Given the description of an element on the screen output the (x, y) to click on. 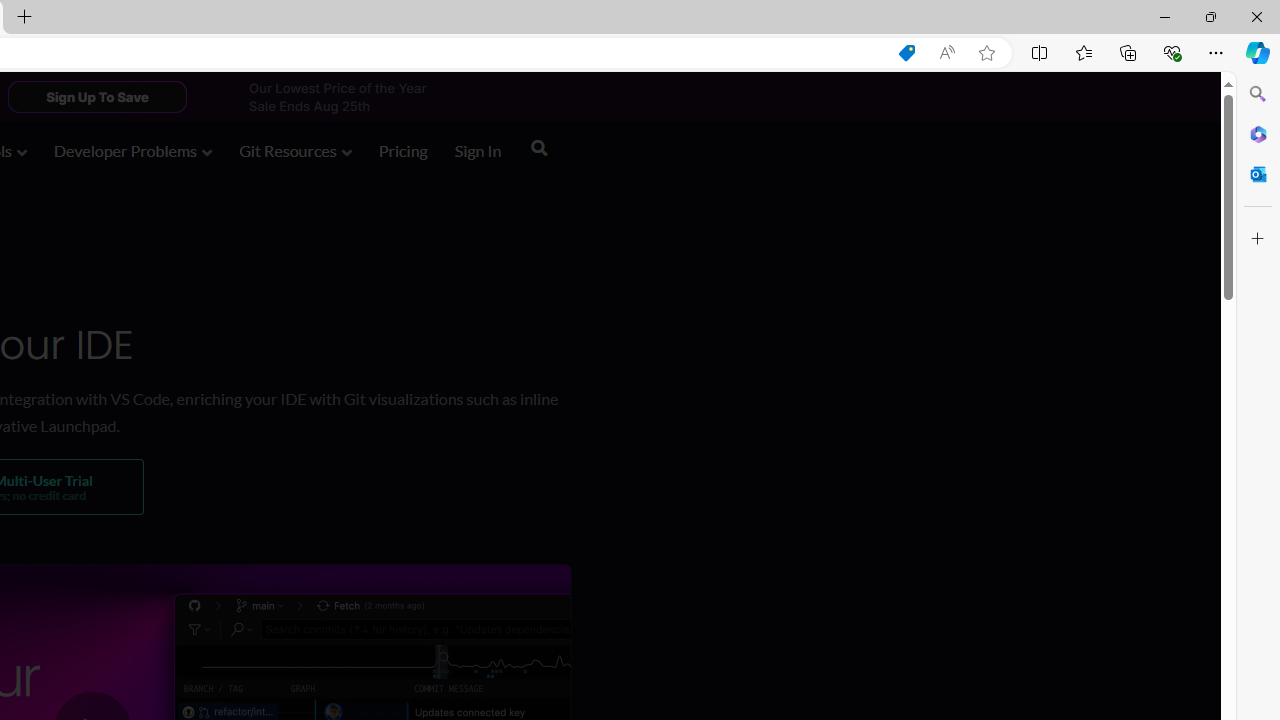
Pricing (402, 150)
Sign In (477, 150)
